Given the description of an element on the screen output the (x, y) to click on. 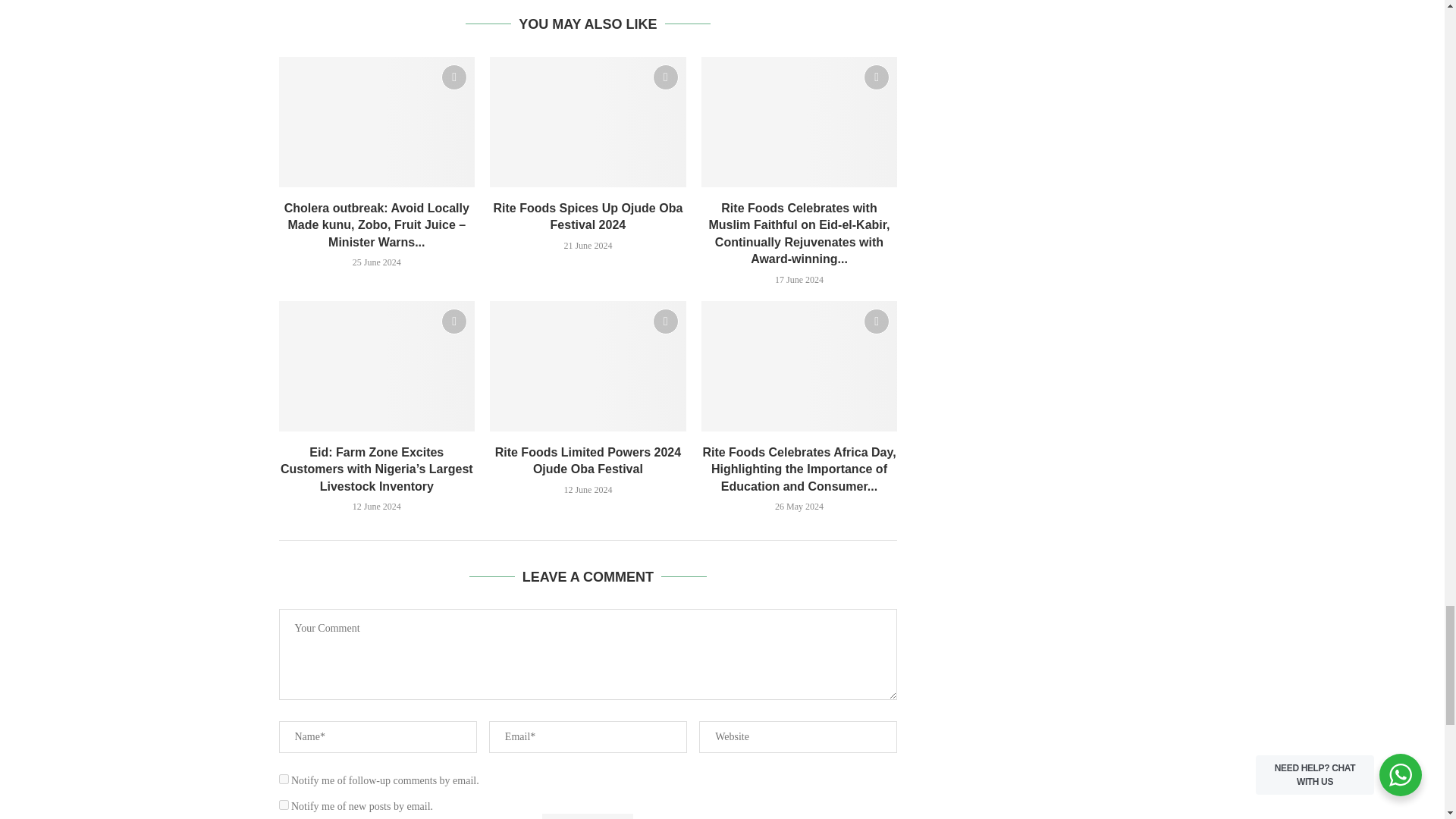
subscribe (283, 778)
subscribe (283, 804)
Submit (587, 816)
